Given the description of an element on the screen output the (x, y) to click on. 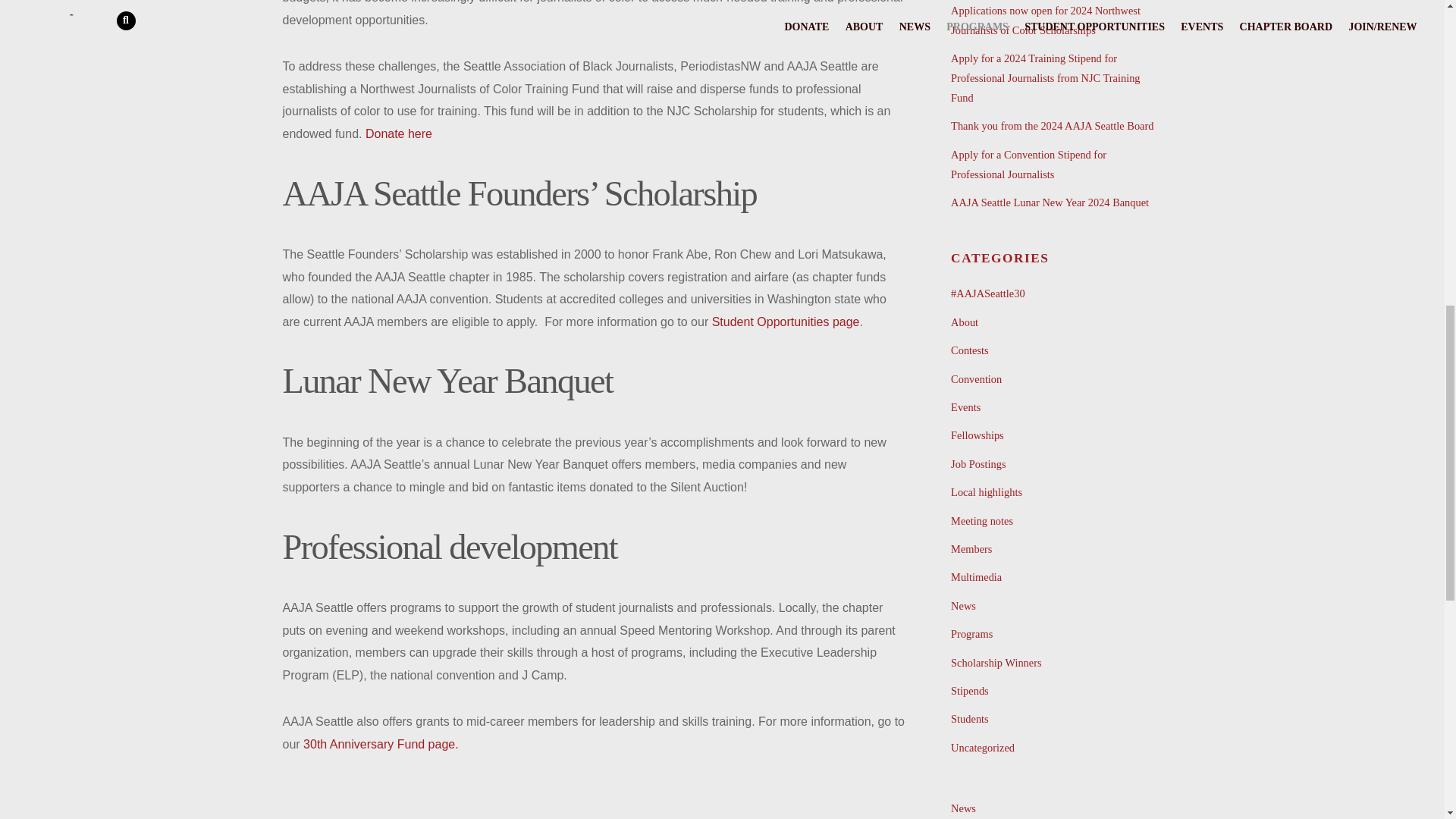
Fellowships (977, 435)
Multimedia (975, 576)
Contests (969, 349)
Events (964, 407)
Thank you from the 2024 AAJA Seattle Board (1051, 125)
Student Opportunities page (785, 321)
About (964, 322)
Donate here (398, 133)
